Given the description of an element on the screen output the (x, y) to click on. 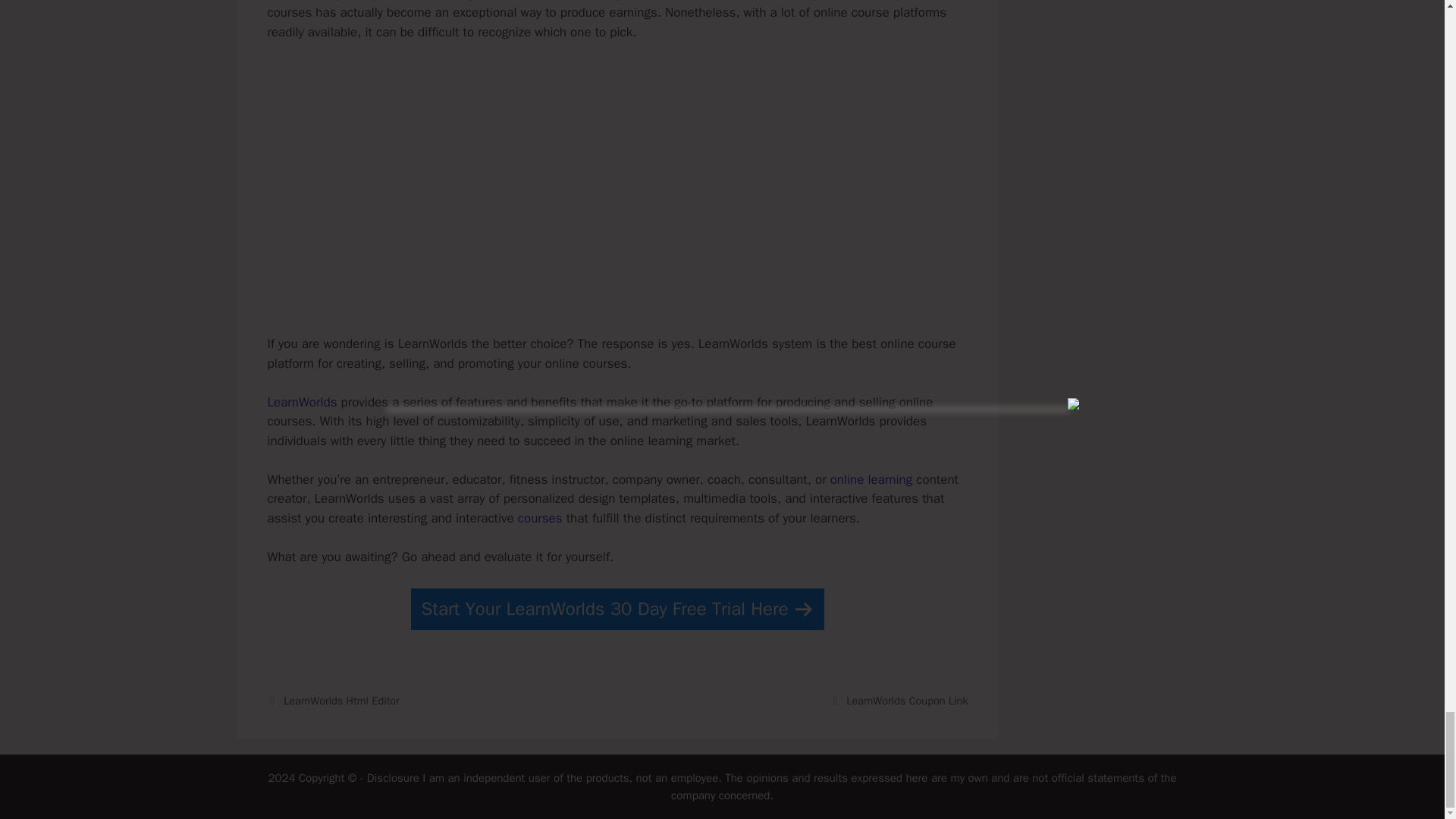
LearnWorlds Html Editor (340, 700)
Start Your LearnWorlds 30 Day Free Trial Here (617, 608)
online learning (870, 479)
LearnWorlds Coupon Link (906, 700)
LearnWorlds (301, 401)
courses (540, 518)
